Given the description of an element on the screen output the (x, y) to click on. 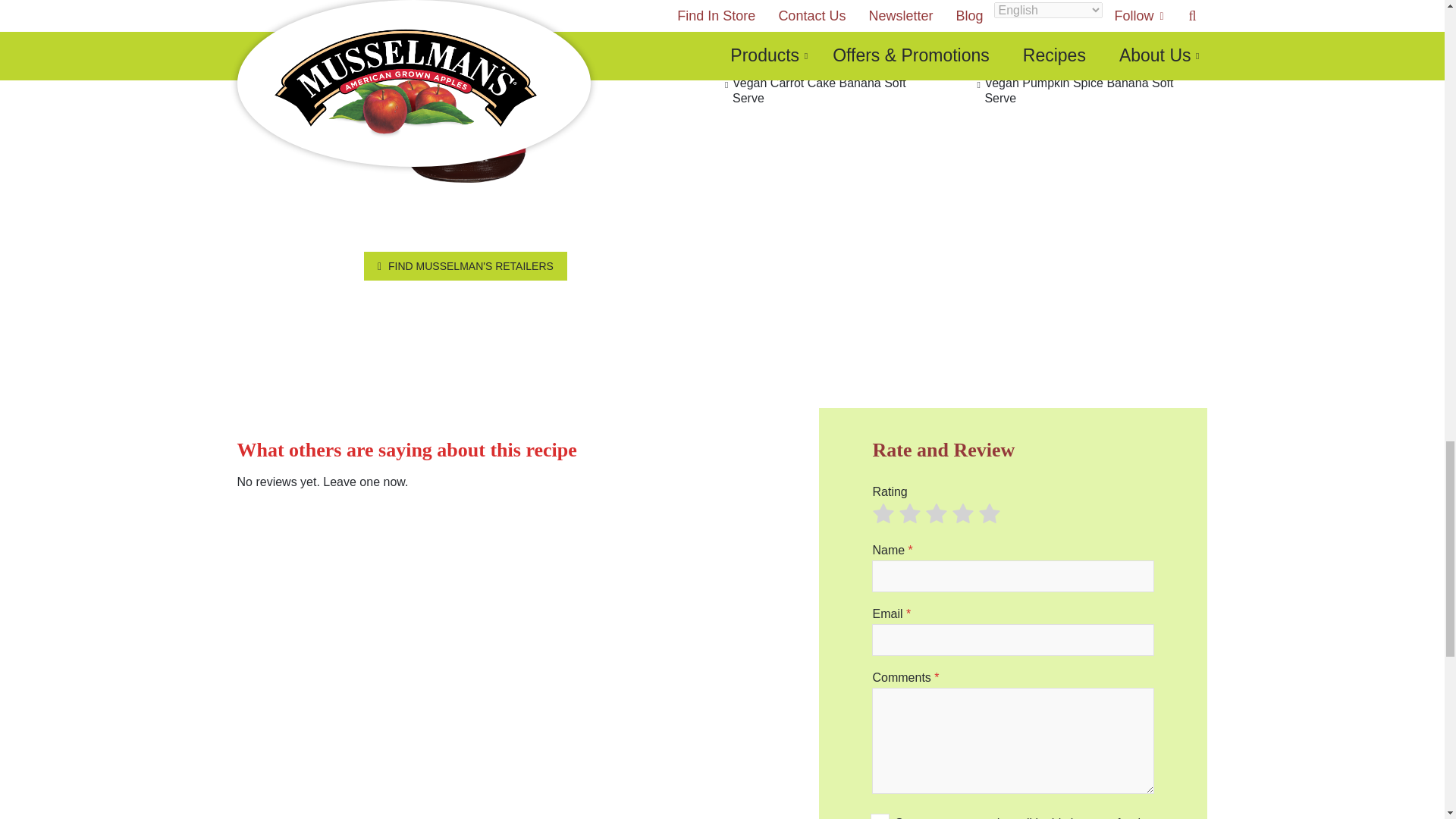
Vegan Carrot Cake Banana Soft Serve (831, 57)
FIND MUSSELMAN'S RETAILERS (465, 265)
